Given the description of an element on the screen output the (x, y) to click on. 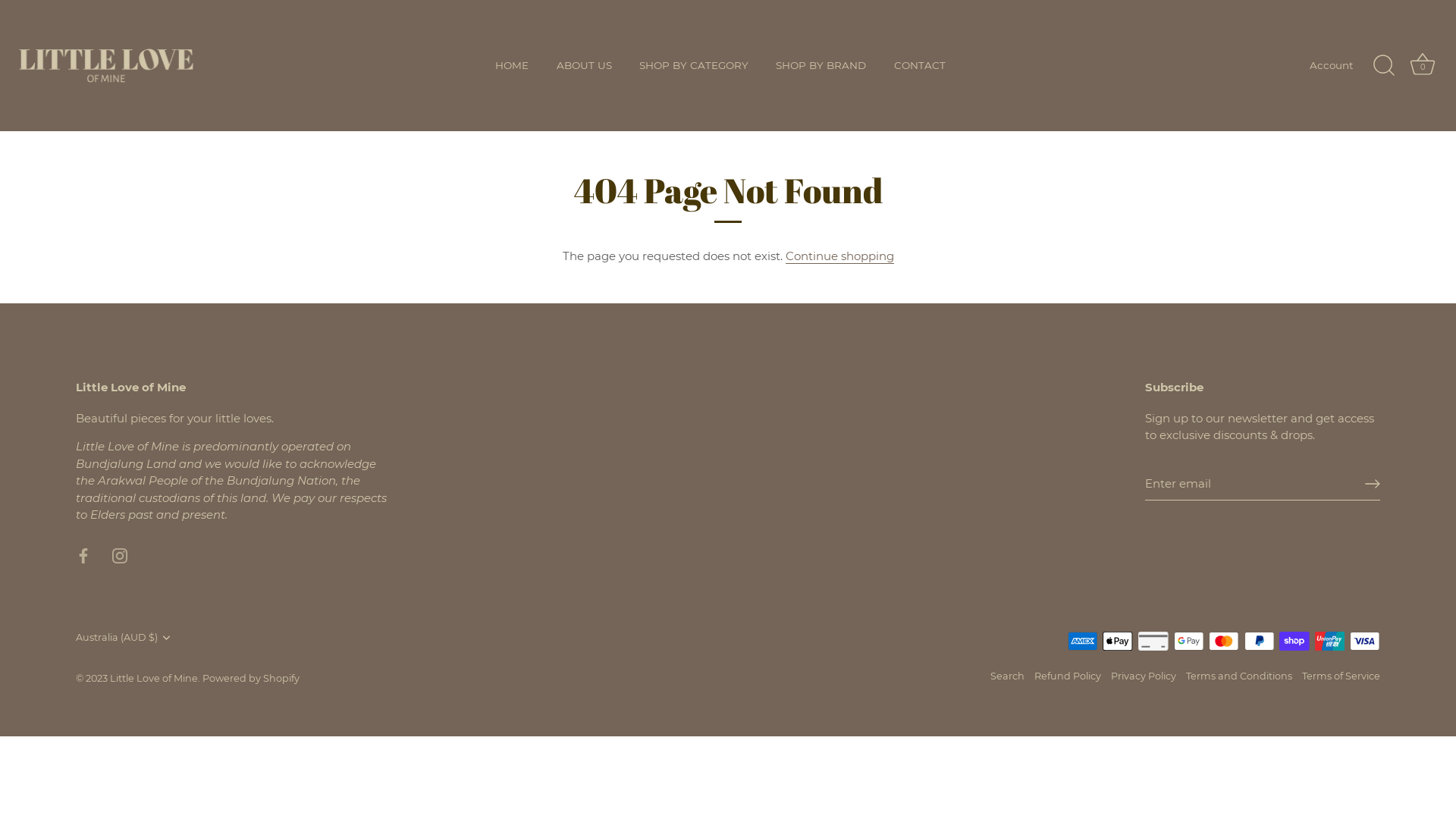
Search Element type: text (1007, 675)
Australia (AUD $) Element type: text (133, 637)
Terms of Service Element type: text (1341, 675)
SHOP BY CATEGORY Element type: text (693, 65)
Privacy Policy Element type: text (1143, 675)
Refund Policy Element type: text (1067, 675)
Little Love of Mine Element type: text (153, 678)
Terms and Conditions Element type: text (1239, 675)
Powered by Shopify Element type: text (250, 678)
ABOUT US Element type: text (583, 65)
Continue shopping Element type: text (839, 255)
RIGHT ARROW LONG Element type: text (1372, 483)
HOME Element type: text (511, 65)
SHOP BY BRAND Element type: text (820, 65)
Account Element type: text (1344, 65)
CONTACT Element type: text (919, 65)
Basket
0 Element type: text (1422, 65)
Instagram Element type: text (119, 554)
